Given the description of an element on the screen output the (x, y) to click on. 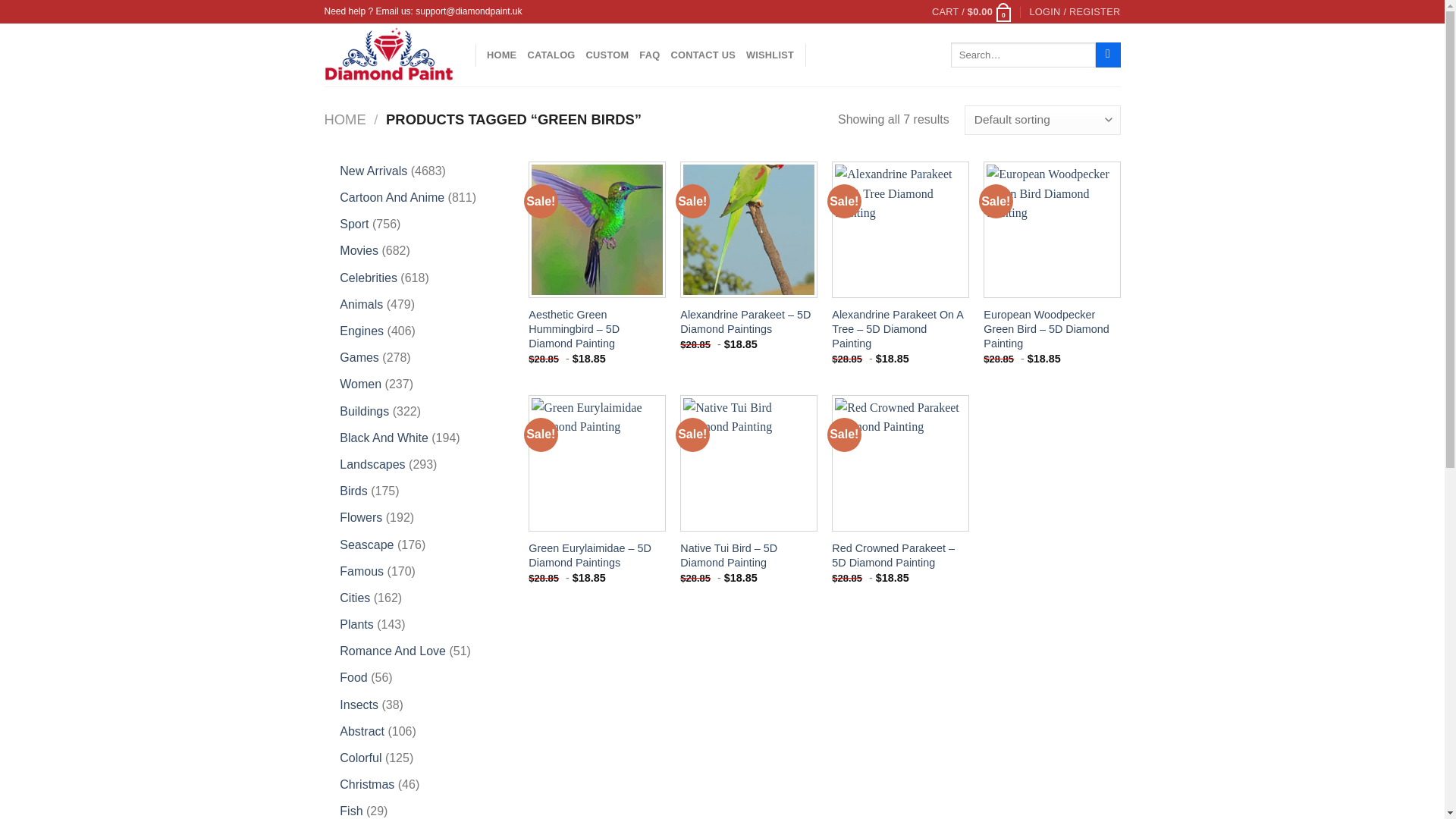
WISHLIST (769, 53)
Insects (358, 704)
Cartoon And Anime (391, 196)
HOME (501, 53)
Movies (358, 250)
HOME (345, 119)
Sport (353, 223)
Animals (360, 304)
Buildings (363, 410)
Black And White (383, 437)
Famous (361, 571)
Games (358, 357)
Landscapes (371, 463)
Plants (355, 624)
New Arrivals (373, 170)
